Given the description of an element on the screen output the (x, y) to click on. 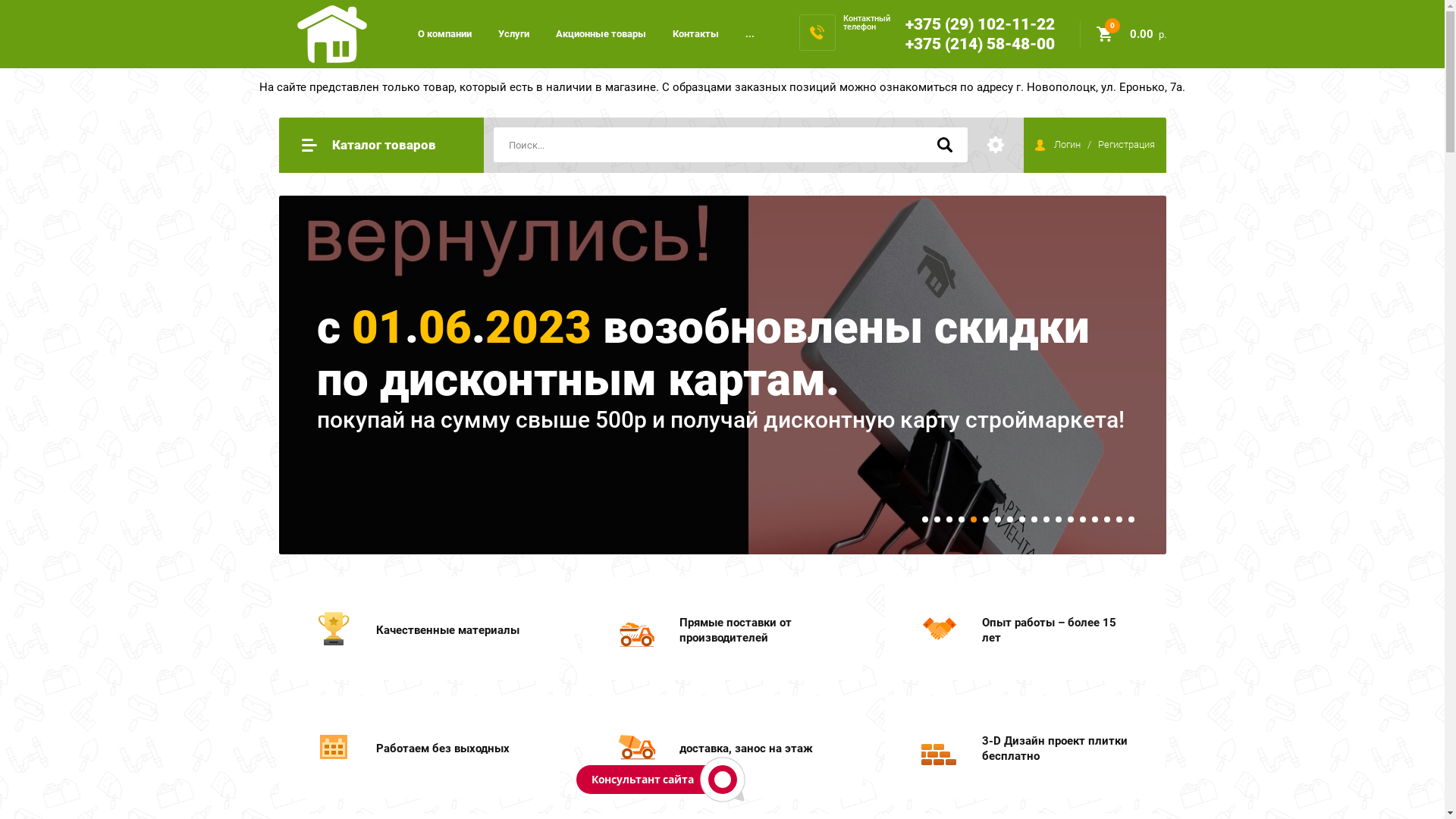
1 Element type: text (925, 519)
+375 (214) 58-48-00 Element type: text (979, 43)
12 Element type: text (1058, 519)
+375 (29) 102-11-22 Element type: text (979, 24)
9 Element type: text (1022, 519)
11 Element type: text (1046, 519)
4 Element type: text (961, 519)
10 Element type: text (1034, 519)
7 Element type: text (997, 519)
17 Element type: text (1119, 519)
... Element type: text (749, 33)
8 Element type: text (1010, 519)
14 Element type: text (1082, 519)
18 Element type: text (1131, 519)
5 Element type: text (973, 519)
15 Element type: text (1095, 519)
16 Element type: text (1107, 519)
13 Element type: text (1070, 519)
6 Element type: text (985, 519)
3 Element type: text (949, 519)
2 Element type: text (937, 519)
